Given the description of an element on the screen output the (x, y) to click on. 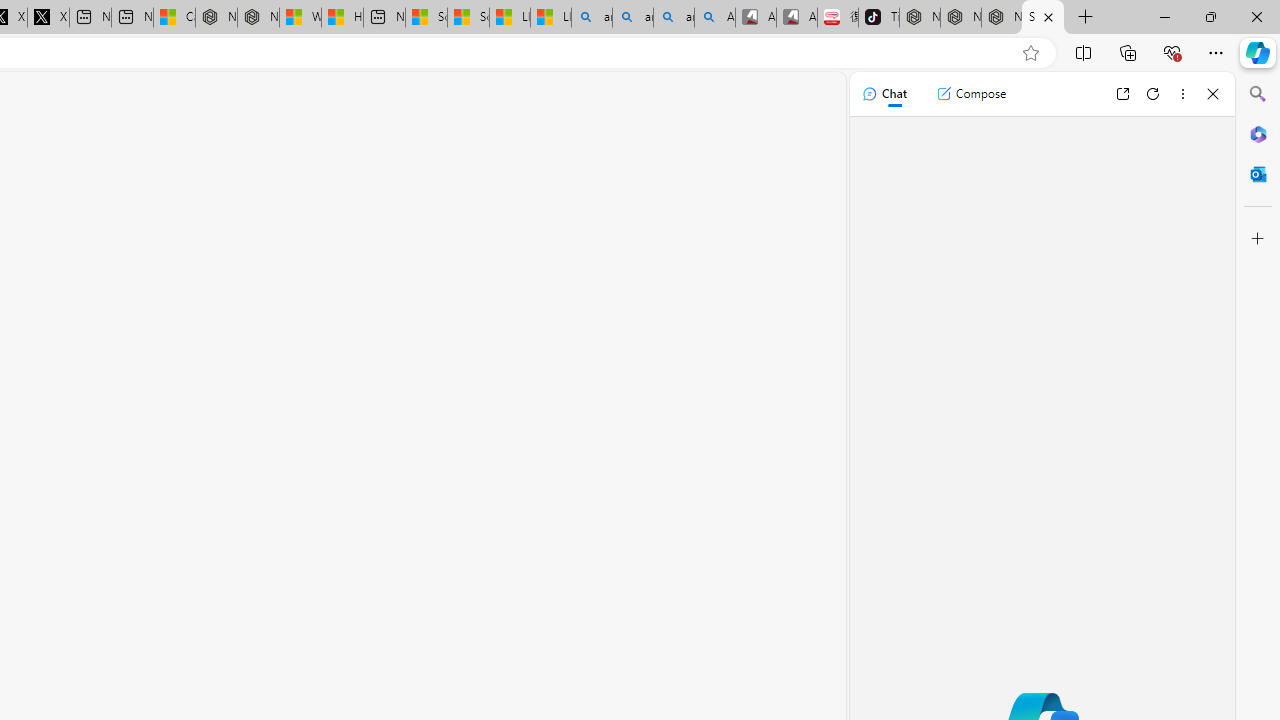
Open link in new tab (1122, 93)
Customize (1258, 239)
Chat (884, 93)
Amazon Echo Robot - Search Images (714, 17)
Outlook (1258, 174)
